Given the description of an element on the screen output the (x, y) to click on. 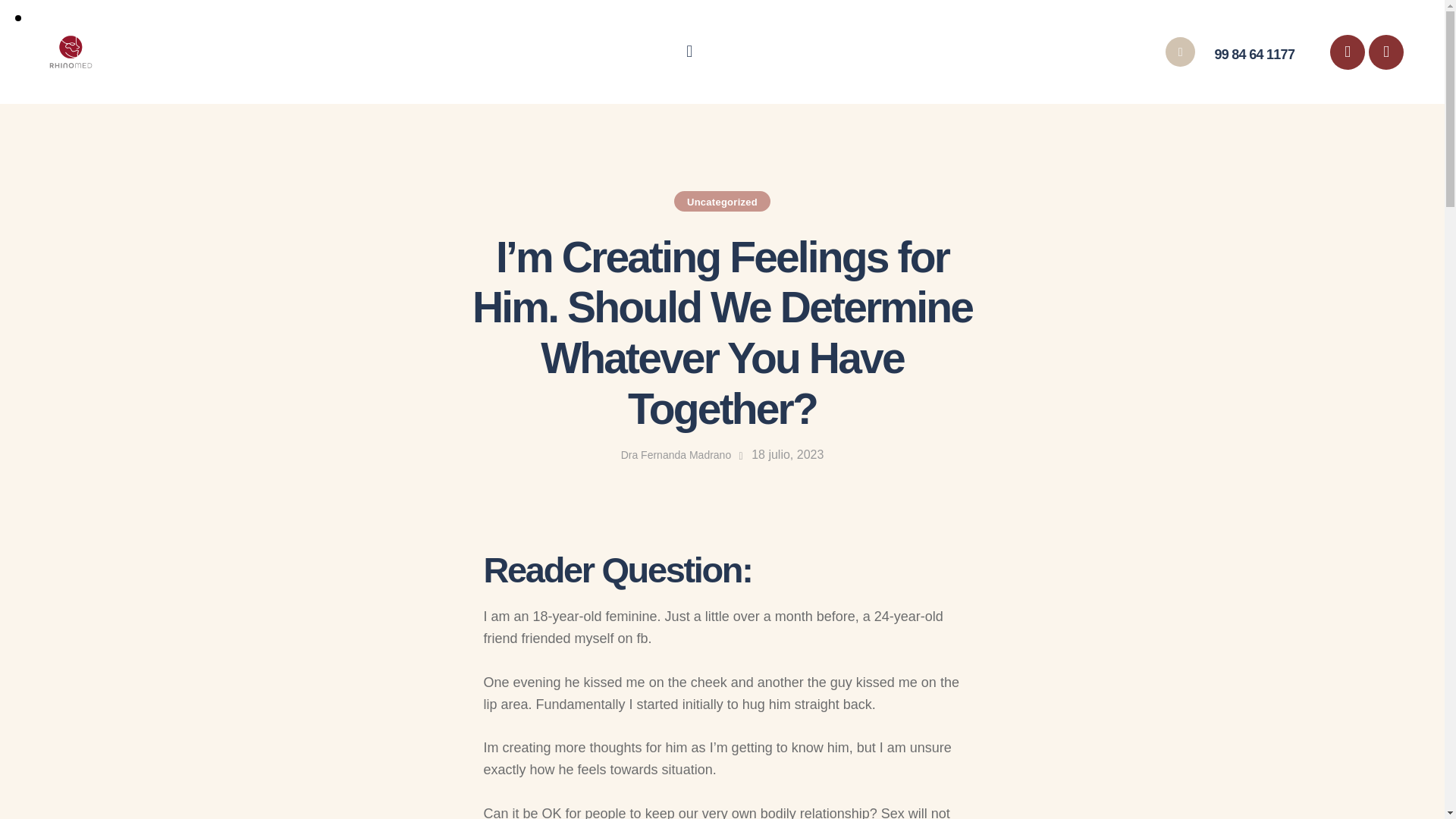
99 84 64 1177 (1230, 51)
Dra Fernanda Madrano (684, 455)
Uncategorized (722, 200)
